Given the description of an element on the screen output the (x, y) to click on. 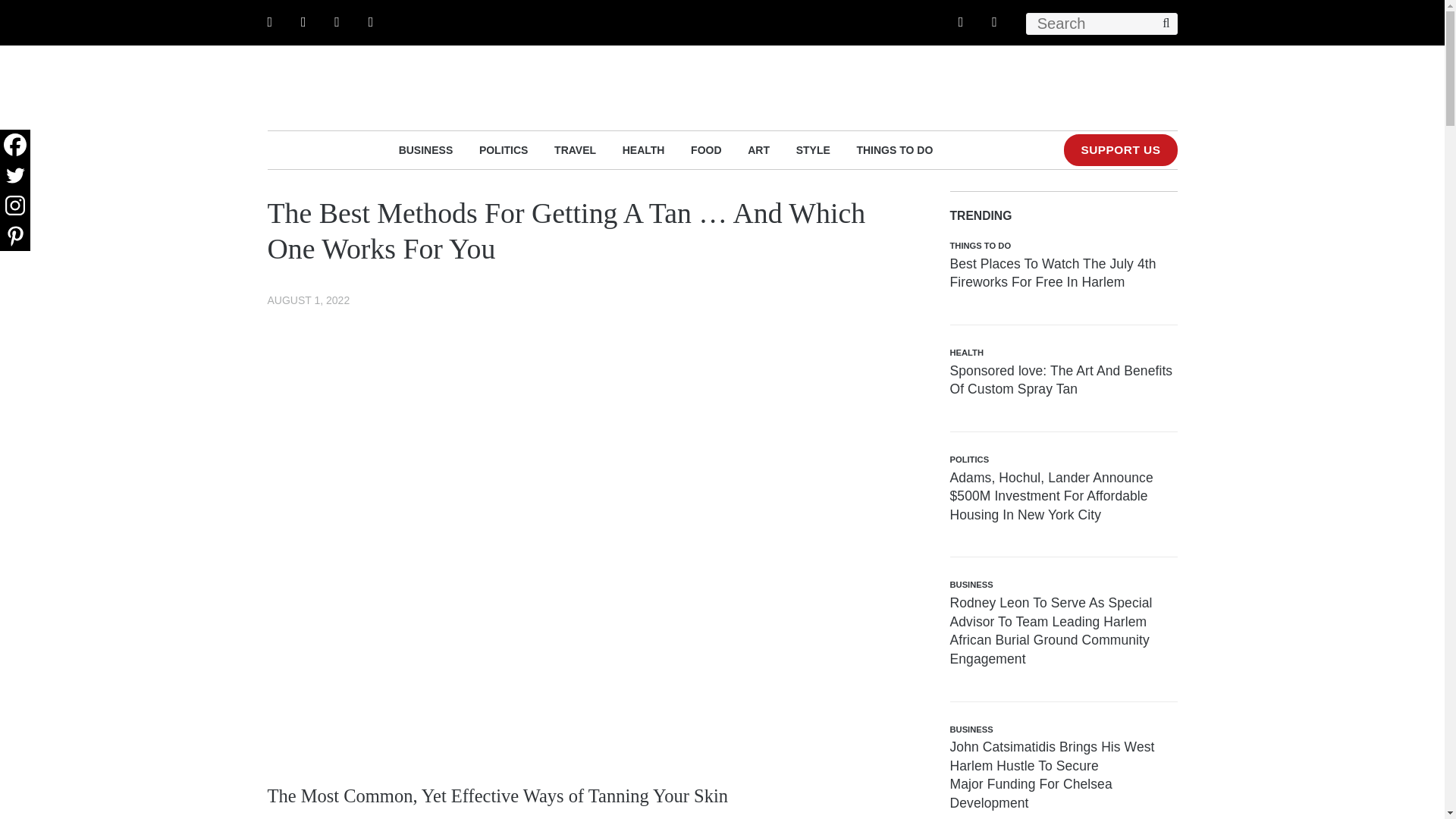
Twitter (15, 174)
POLITICS (503, 149)
Facebook (15, 144)
HEALTH (644, 149)
BUSINESS (425, 149)
STYLE (812, 149)
SUPPORT US (1120, 150)
Instagram (15, 205)
Pinterest (15, 235)
TRAVEL (574, 149)
THINGS TO DO (894, 149)
